Given the description of an element on the screen output the (x, y) to click on. 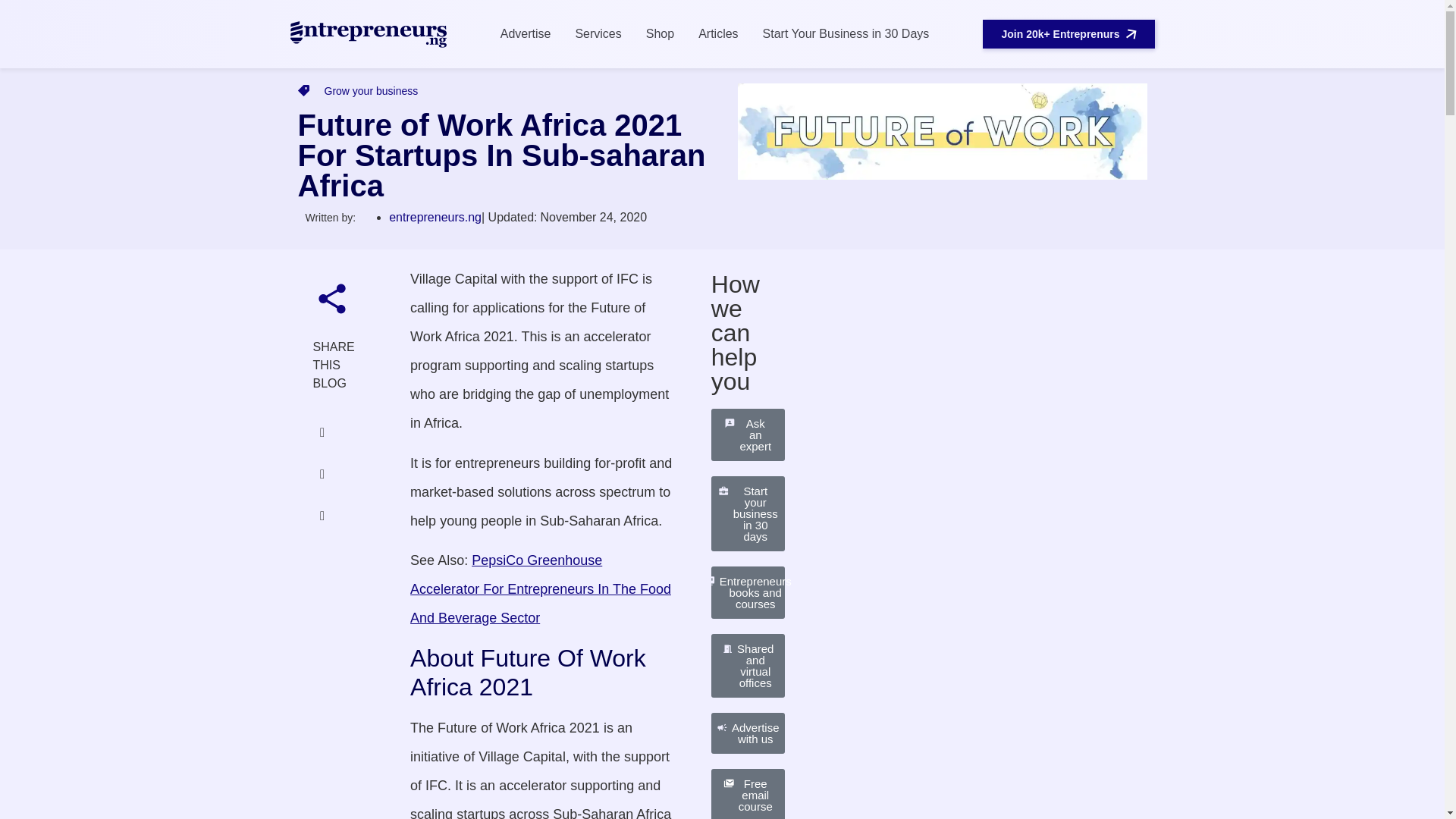
Articles (717, 33)
Advertise with us (747, 732)
Ask an expert (747, 434)
Entrepreneurs books and courses (747, 592)
Start Your Business in 30 Days (846, 33)
Shared and virtual offices (747, 665)
Shop (659, 33)
Services (597, 33)
entrepreneurs.ng (434, 216)
